Given the description of an element on the screen output the (x, y) to click on. 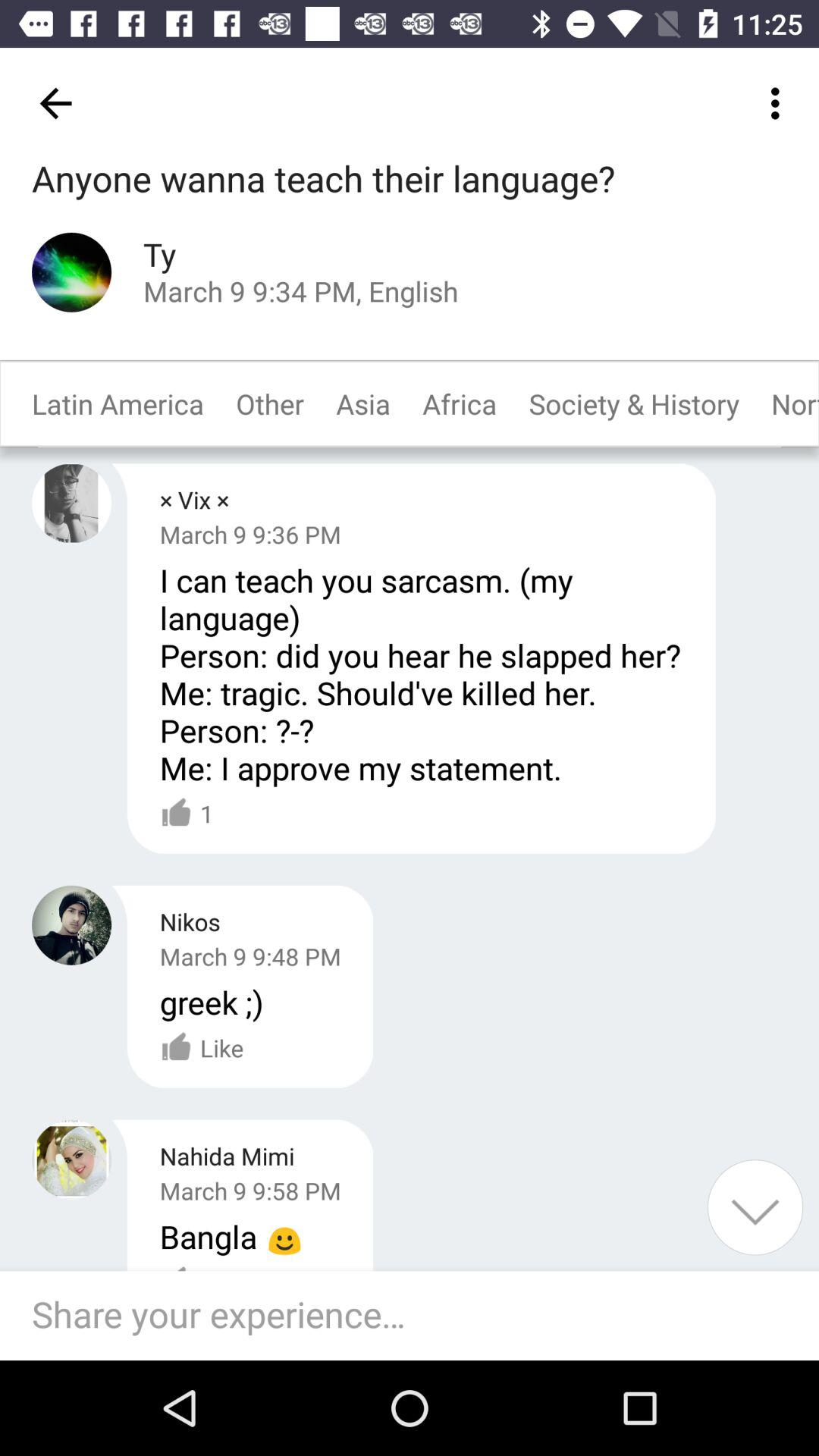
click 1 icon (186, 813)
